Given the description of an element on the screen output the (x, y) to click on. 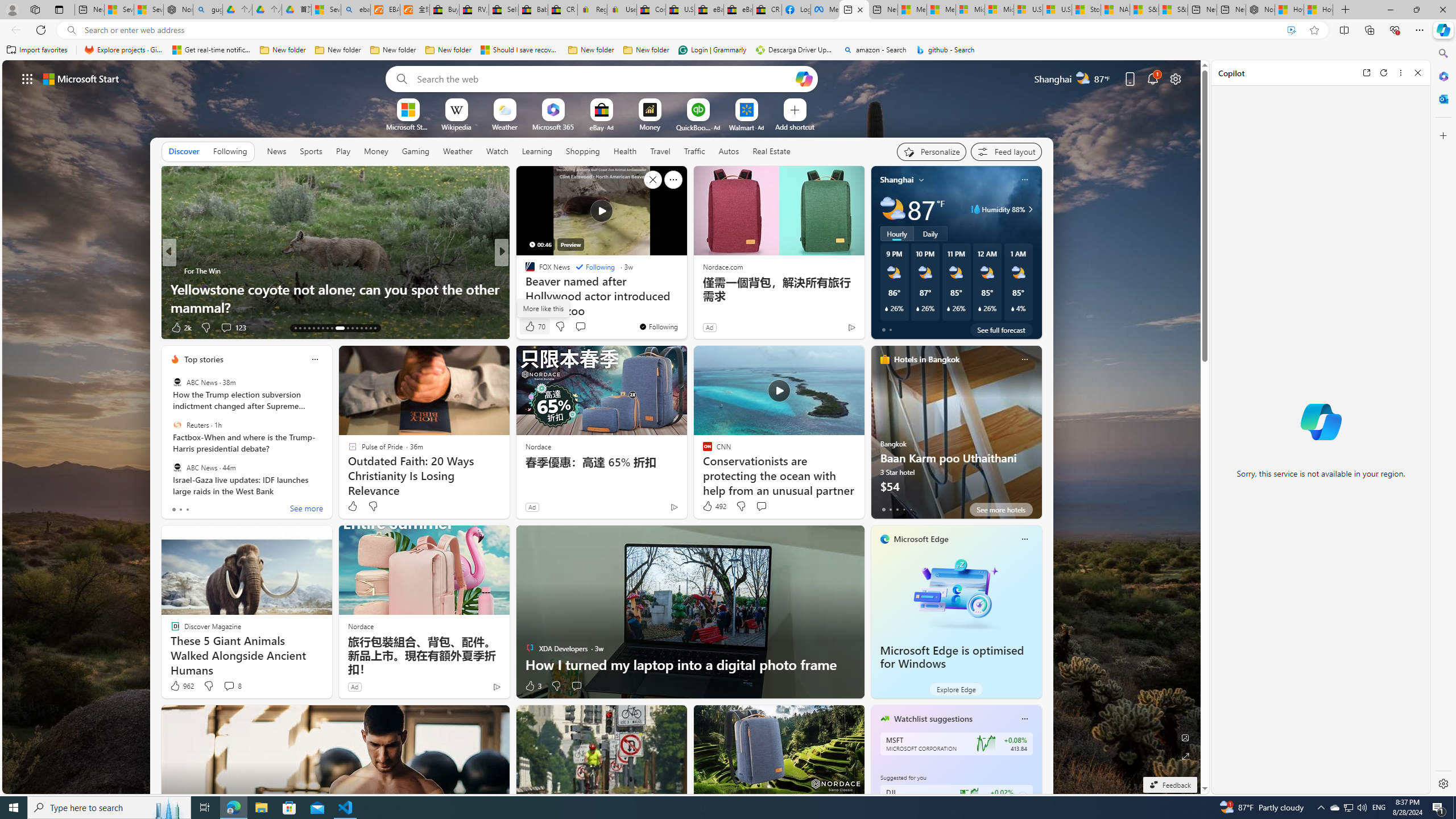
962 Like (181, 685)
Login | Grammarly (712, 49)
Humidity 88% (1028, 208)
Hotels in Bangkok (926, 359)
SheBudgets (524, 288)
Microsoft start (81, 78)
Autos (729, 151)
AutomationID: tab-19 (322, 328)
81 Like (530, 327)
Hide this story (652, 179)
Hourly (896, 233)
Class: follow-button  m (1021, 795)
